Given the description of an element on the screen output the (x, y) to click on. 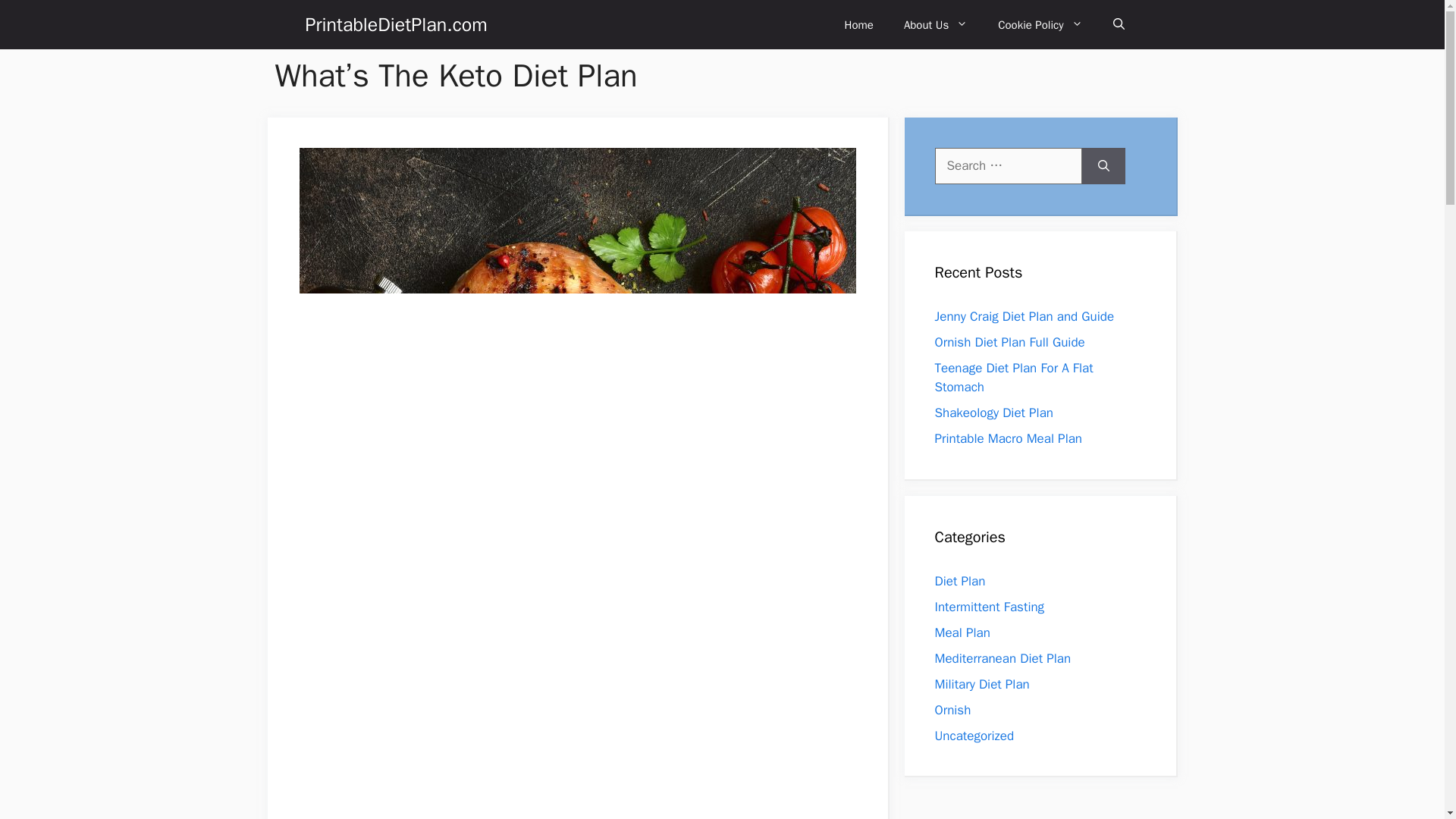
Ornish Diet Plan Full Guide (1009, 342)
Search for: (1007, 166)
Shakeology Diet Plan (993, 412)
Cookie Policy (1039, 23)
Home (858, 23)
About Us (935, 23)
PrintableDietPlan.com (395, 24)
Diet Plan (959, 580)
Jenny Craig Diet Plan and Guide (1023, 316)
Teenage Diet Plan For A Flat Stomach (1013, 377)
